Given the description of an element on the screen output the (x, y) to click on. 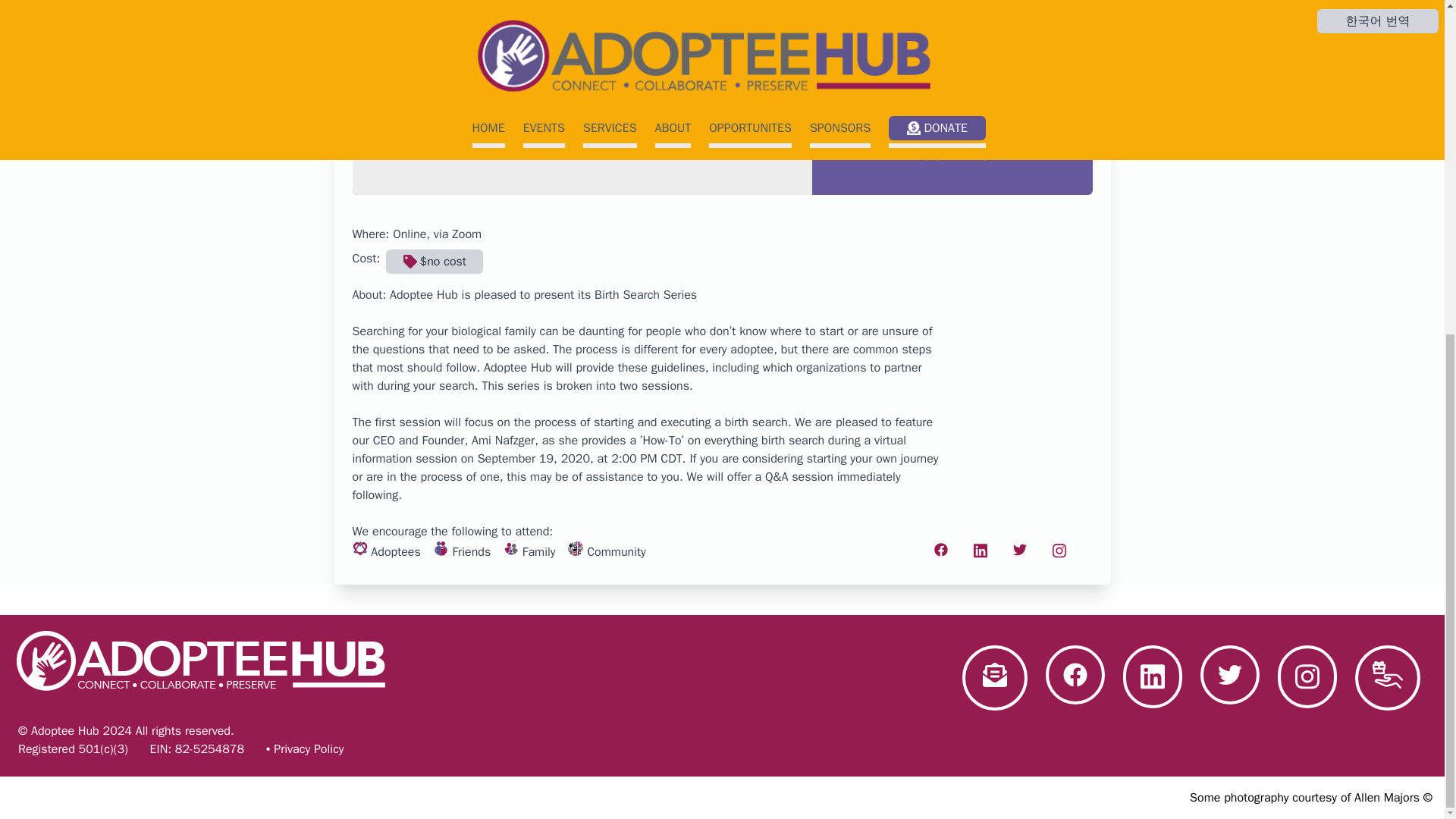
LinkedIn (1152, 677)
instagram (1058, 550)
Friends (440, 548)
facebook (939, 550)
Family (510, 548)
Adoptees (359, 548)
LinkedIn (978, 550)
twitter (1018, 550)
Back to Events (1041, 30)
instagram (1307, 677)
twitter (1229, 677)
donate (1388, 677)
facebook (1075, 677)
newsletter (994, 677)
Community (575, 548)
